Given the description of an element on the screen output the (x, y) to click on. 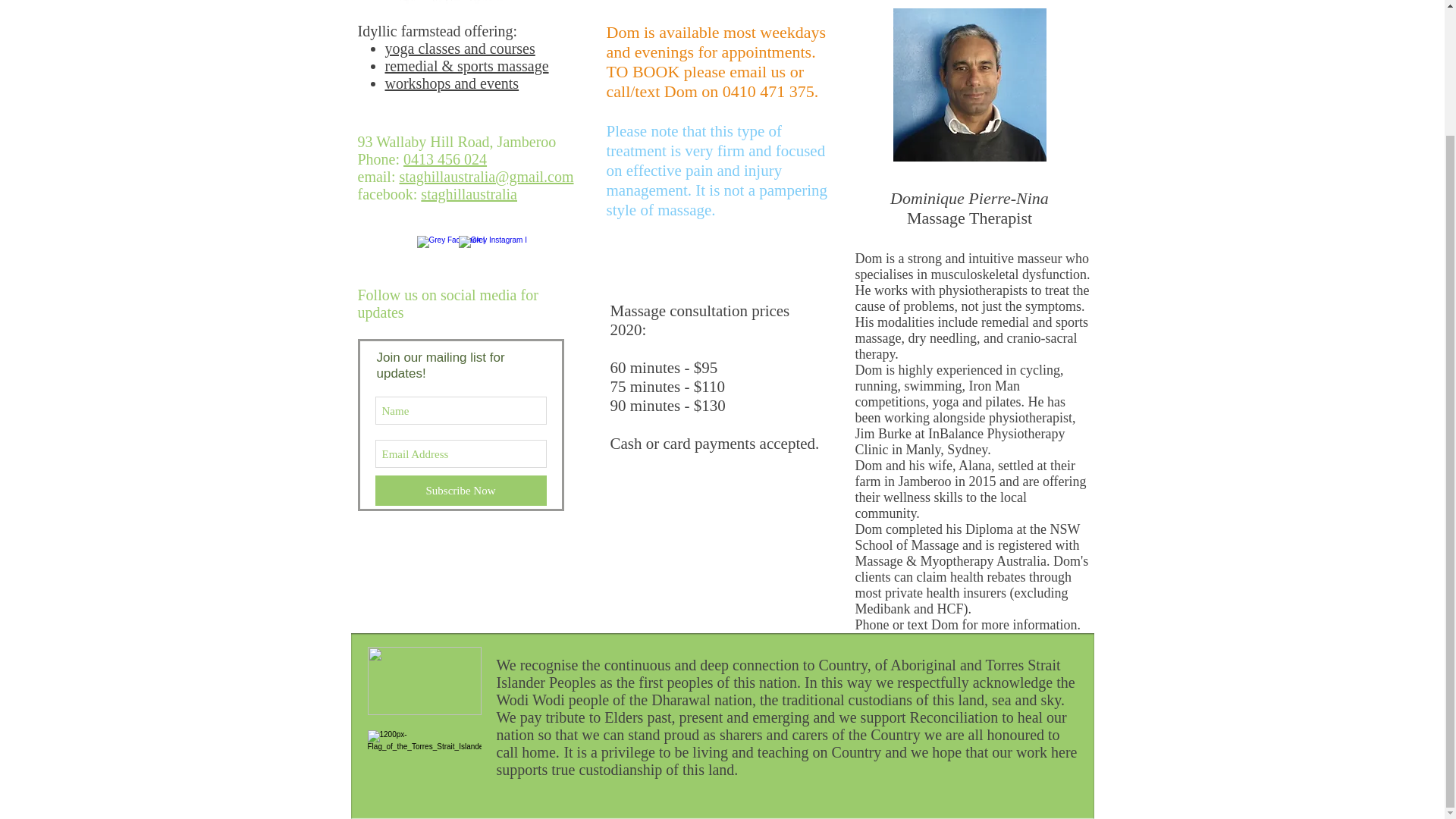
0413 456 024 (444, 158)
workshops and events (452, 83)
Subscribe Now (460, 490)
yoga classes and courses (460, 48)
staghillaustralia (468, 193)
